Given the description of an element on the screen output the (x, y) to click on. 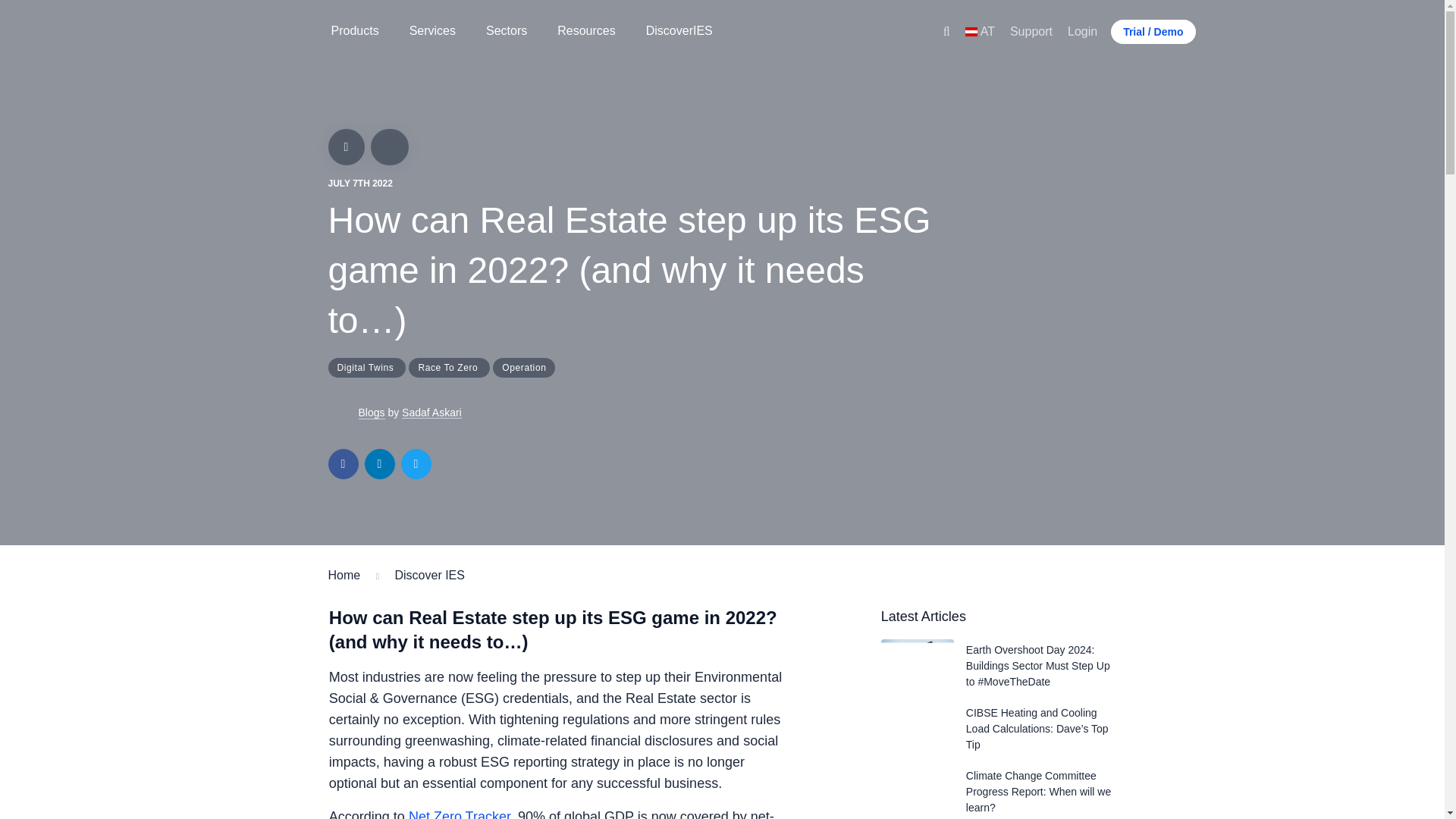
Products (354, 31)
Services (432, 31)
view all items by Sadaf Askari (431, 412)
view all items by Sadaf Askari (342, 412)
view all items by Sadaf Askari (371, 412)
